Given the description of an element on the screen output the (x, y) to click on. 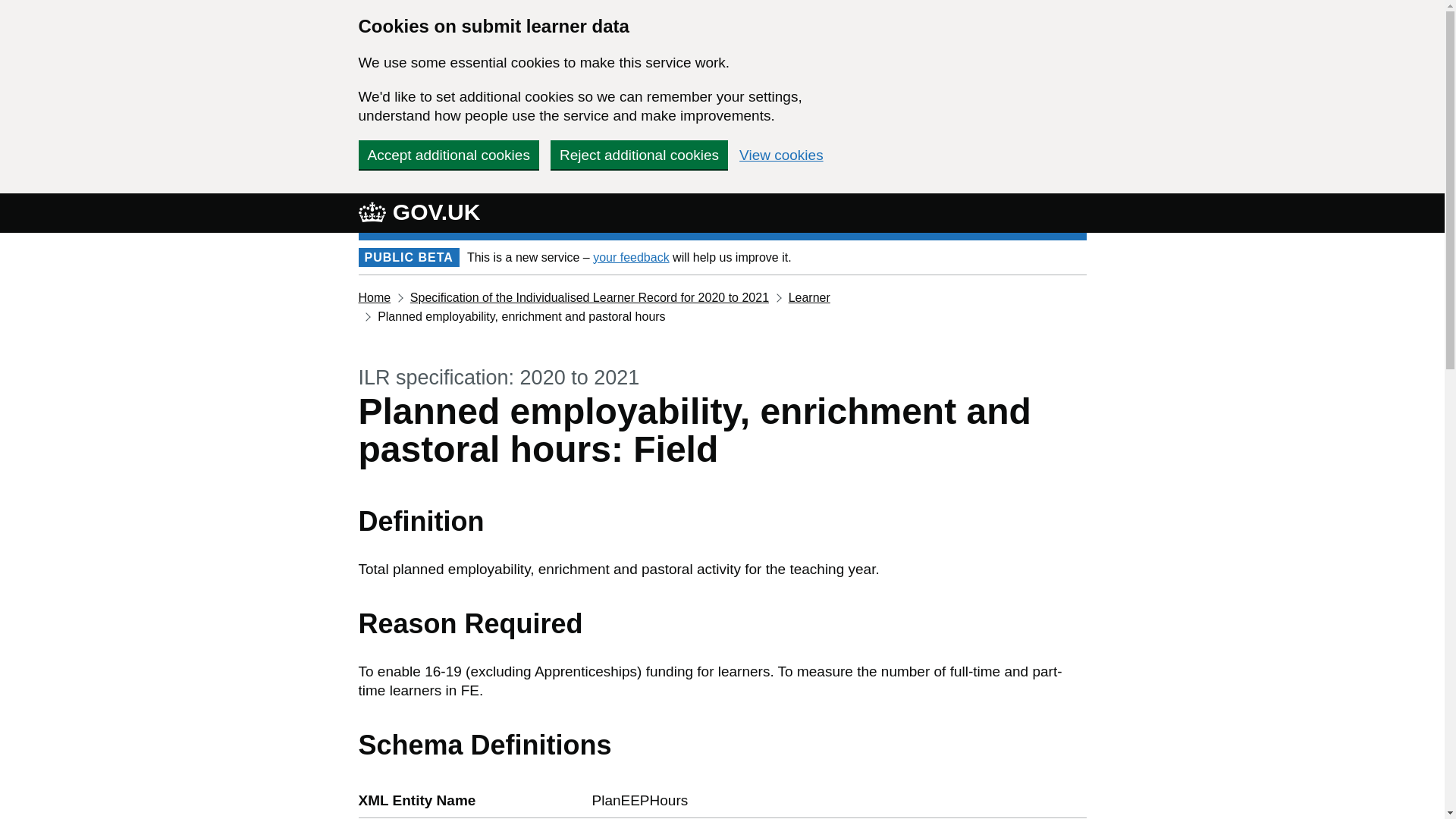
your feedback (630, 256)
Accept additional cookies (448, 154)
Learner (809, 297)
View cookies (781, 155)
Go to the GOV.UK homepage (419, 211)
Home (374, 297)
Reject additional cookies (639, 154)
Skip to main content (11, 7)
GOV.UK (419, 211)
